Given the description of an element on the screen output the (x, y) to click on. 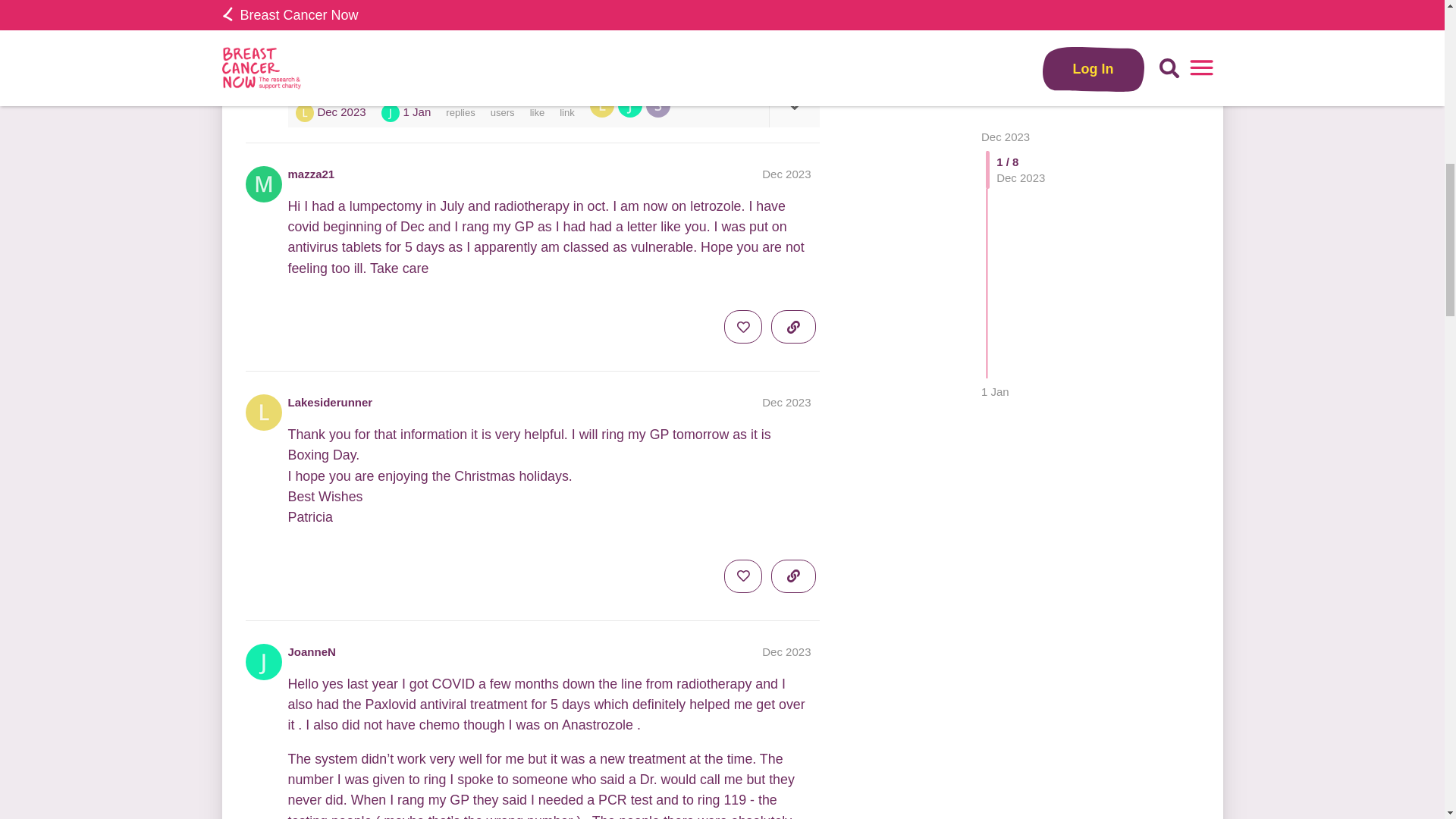
26 Dec 2023 19:35 (341, 111)
Dec 2023 (785, 651)
1 Reply (313, 44)
1 Jan 2024 01:04 (416, 111)
JoanneN (631, 105)
mazza21 (311, 173)
1 Jan (995, 20)
Dec 2023 (785, 173)
copy a link to this post to clipboard (793, 38)
Lakesiderunner (330, 401)
